Given the description of an element on the screen output the (x, y) to click on. 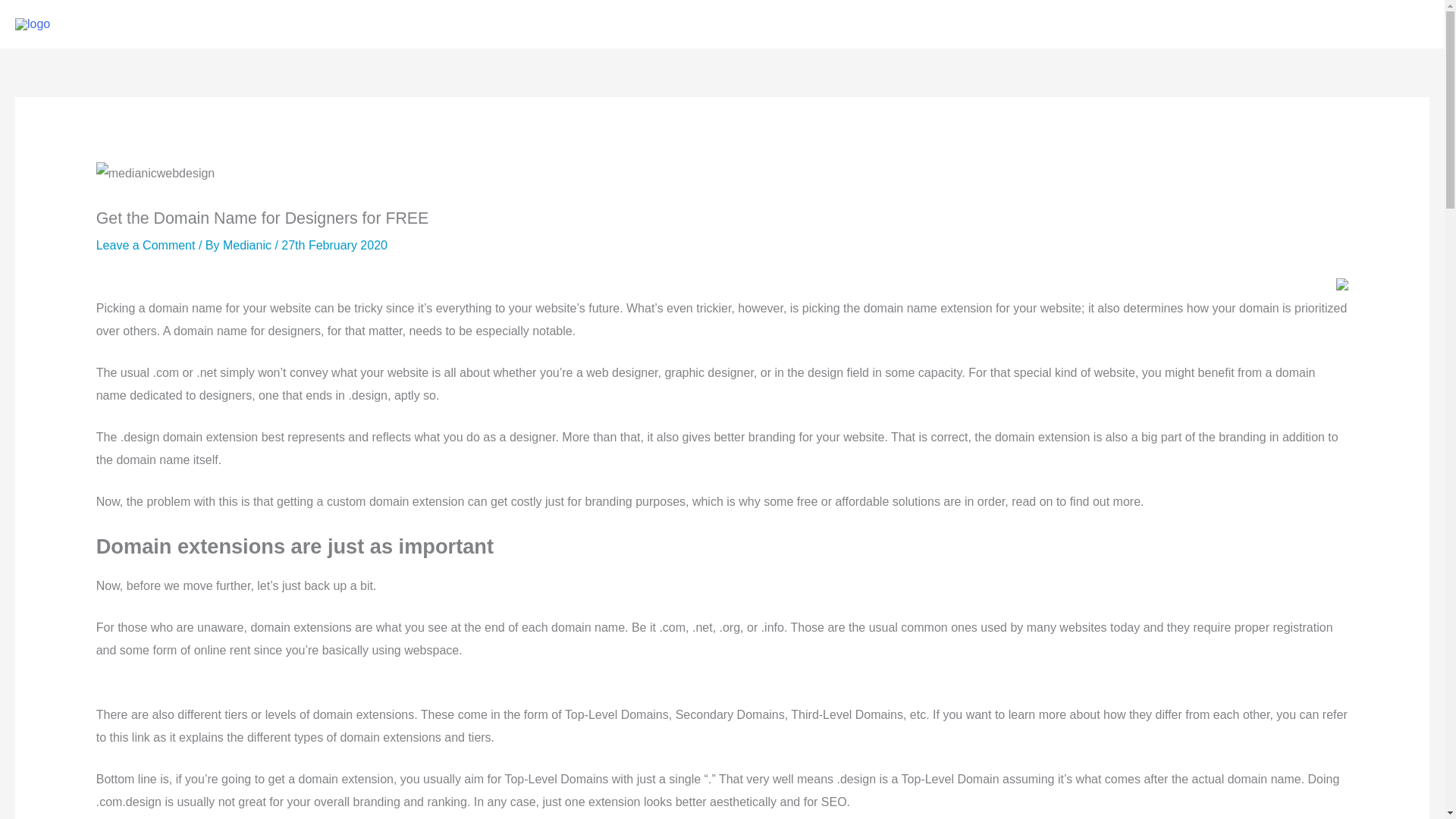
Portfolio (1178, 24)
About Us (1256, 24)
View all posts by Medianic (248, 245)
What We Do (1091, 24)
Medianic (248, 245)
Contact (1392, 24)
Home (1010, 24)
Leave a Comment (145, 245)
News (1326, 24)
